Given the description of an element on the screen output the (x, y) to click on. 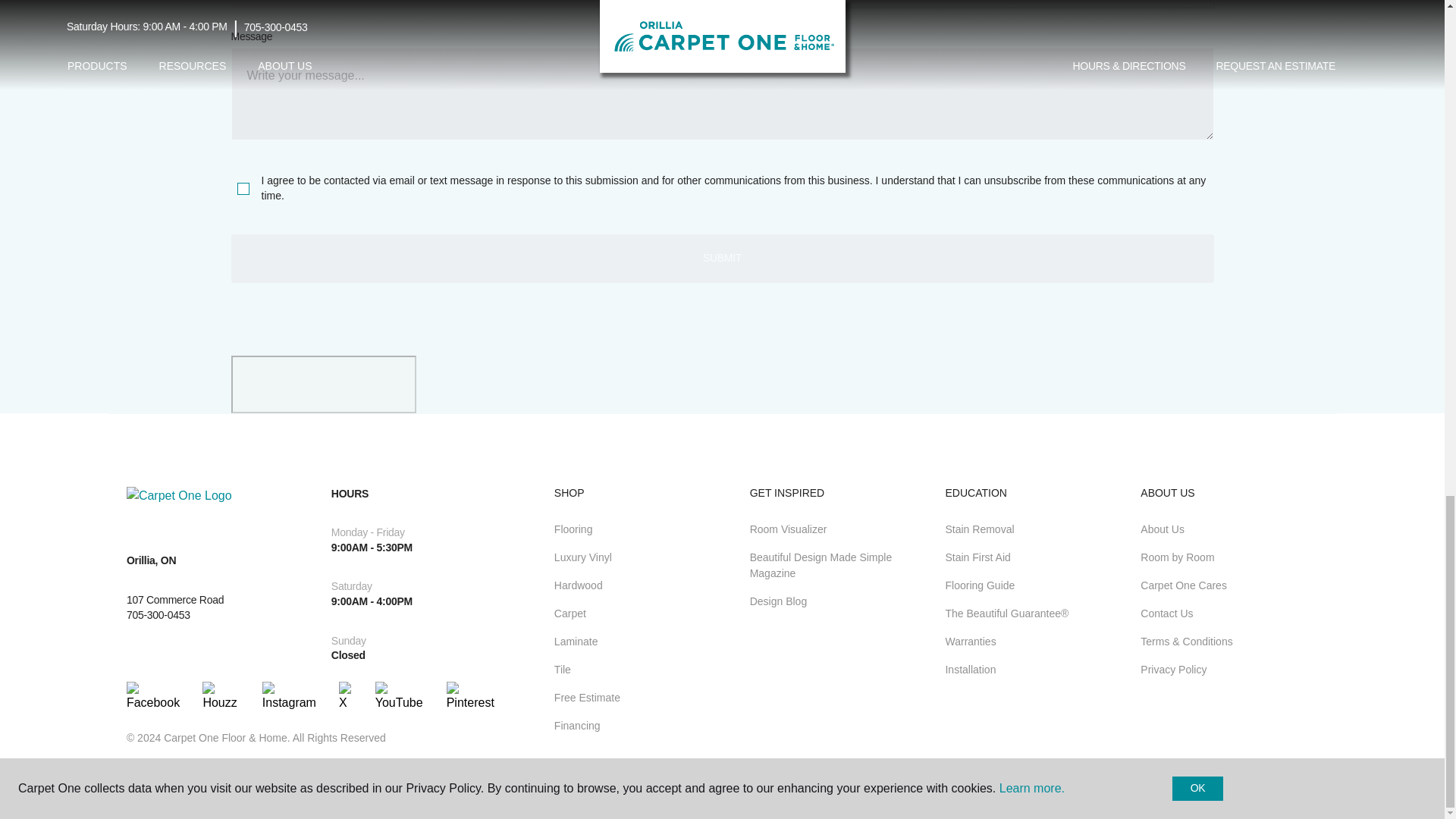
MyMessage (721, 93)
PostalCode (471, 4)
